Given the description of an element on the screen output the (x, y) to click on. 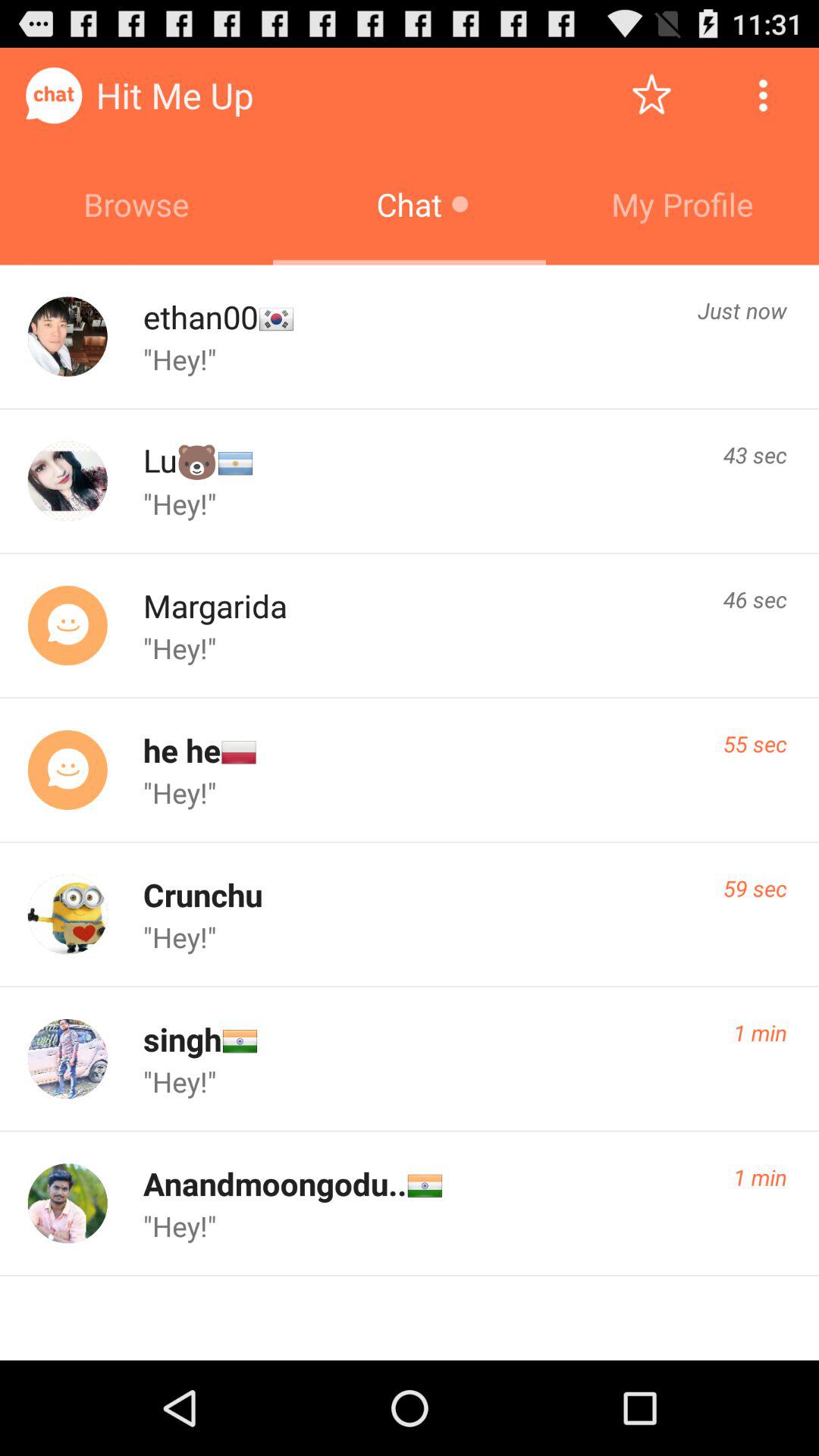
launch item to the right of margarida (755, 599)
